Given the description of an element on the screen output the (x, y) to click on. 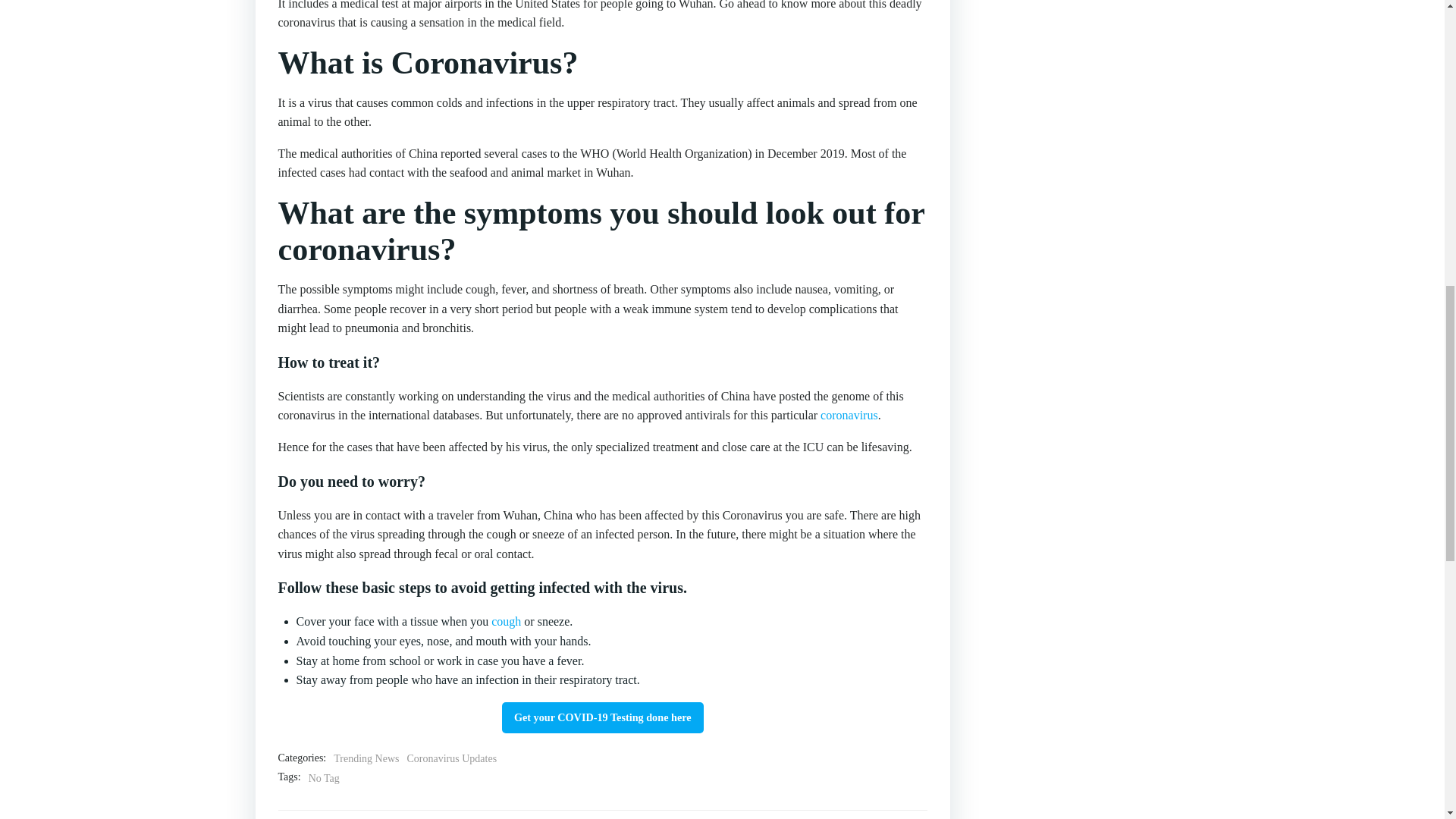
coronavirus (849, 414)
Coronavirus Updates (451, 759)
Get your COVID-19 Testing done here (602, 717)
Trending News (365, 759)
cough (506, 621)
